Given the description of an element on the screen output the (x, y) to click on. 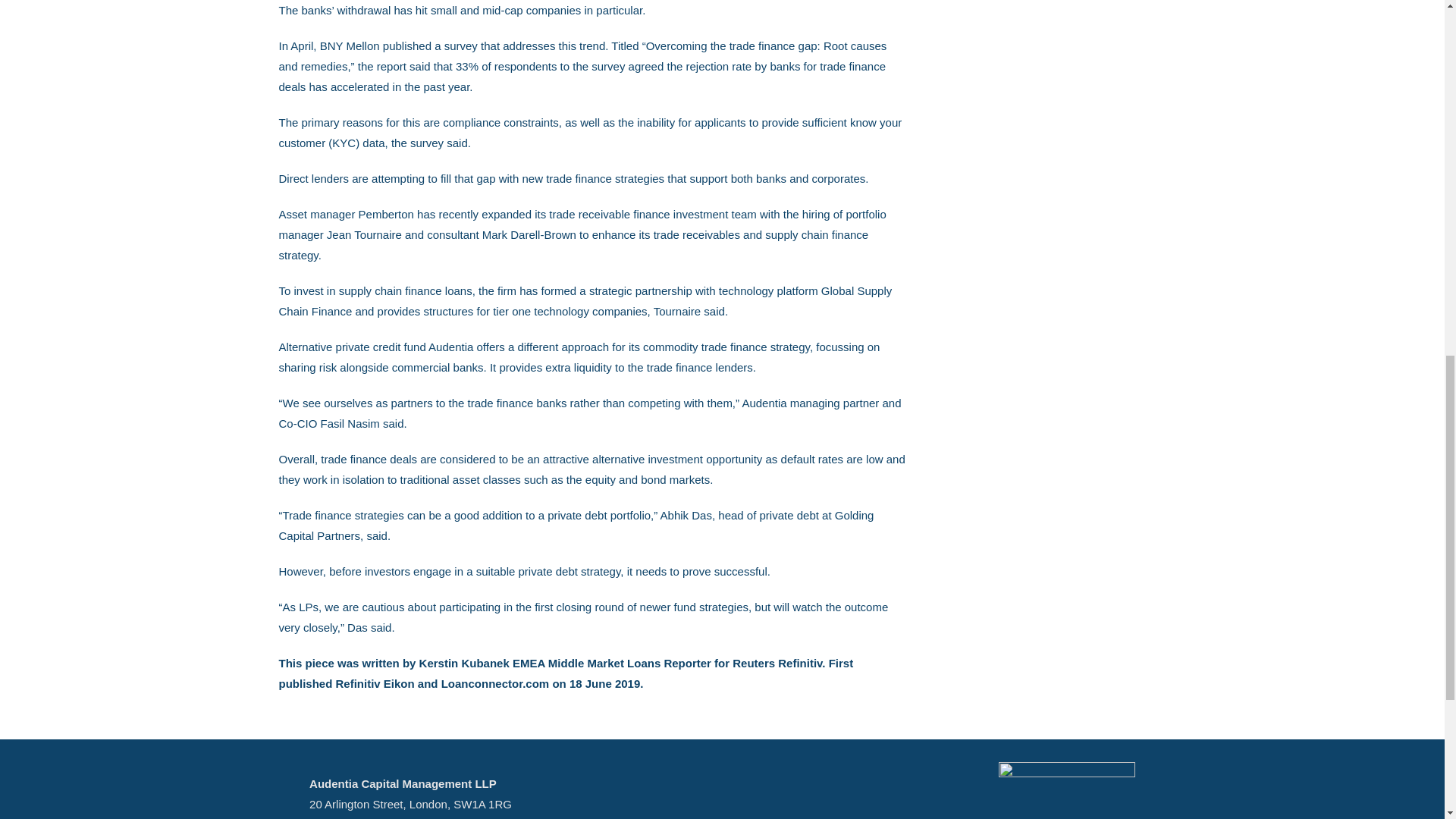
Loanconnector.com (495, 683)
